Given the description of an element on the screen output the (x, y) to click on. 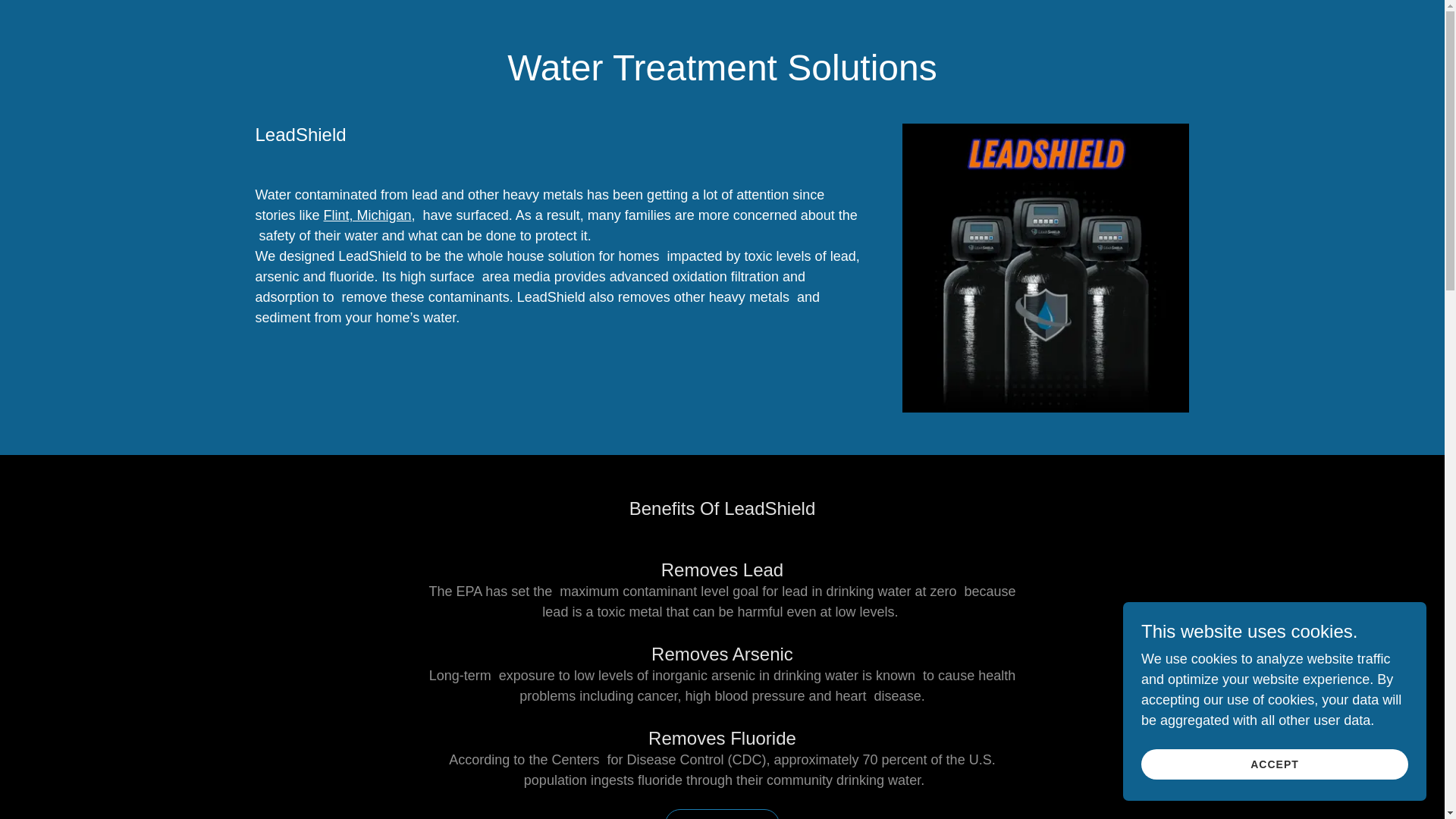
Flint, Michigan (367, 215)
CONTACT US (721, 814)
ACCEPT (1274, 764)
